Given the description of an element on the screen output the (x, y) to click on. 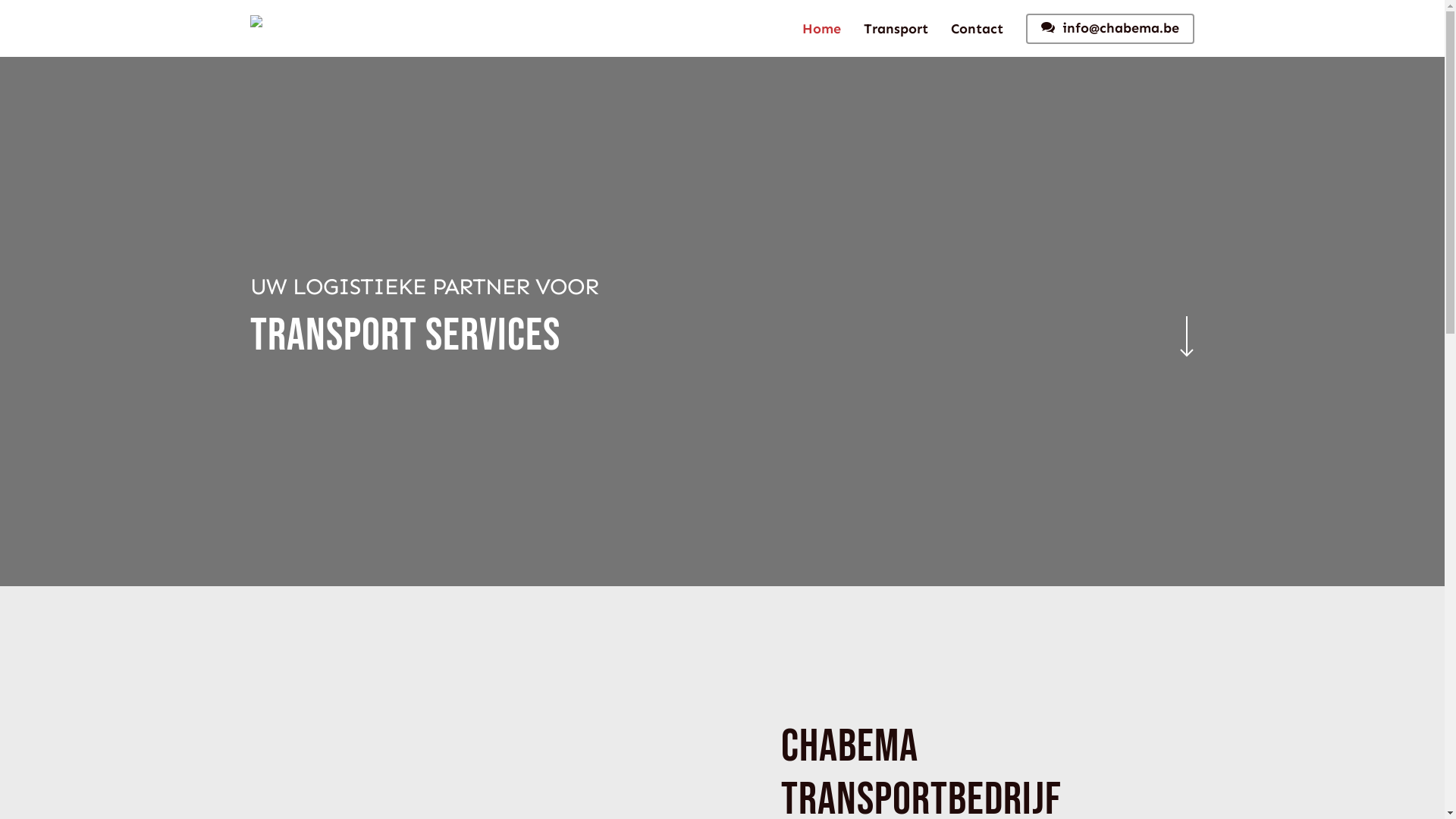
Home Element type: text (821, 27)
Transport Element type: text (895, 27)
Navigate to the next section Element type: text (1182, 333)
Contact Element type: text (976, 27)
 info@chabema.be Element type: text (1110, 28)
